Given the description of an element on the screen output the (x, y) to click on. 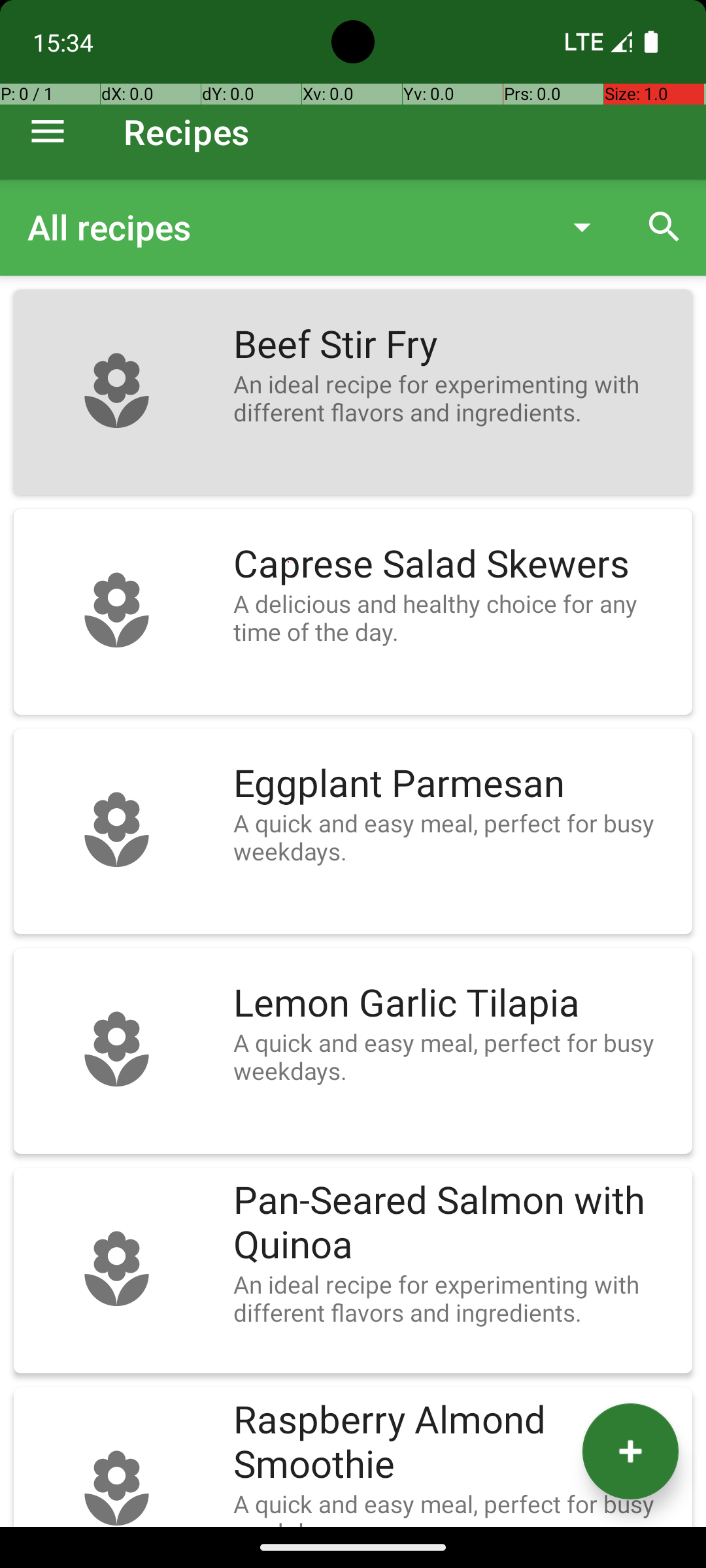
Eggplant Parmesan Element type: android.widget.TextView (455, 783)
Lemon Garlic Tilapia Element type: android.widget.TextView (455, 1003)
Pan-Seared Salmon with Quinoa Element type: android.widget.TextView (455, 1222)
Raspberry Almond Smoothie Element type: android.widget.TextView (455, 1442)
